Given the description of an element on the screen output the (x, y) to click on. 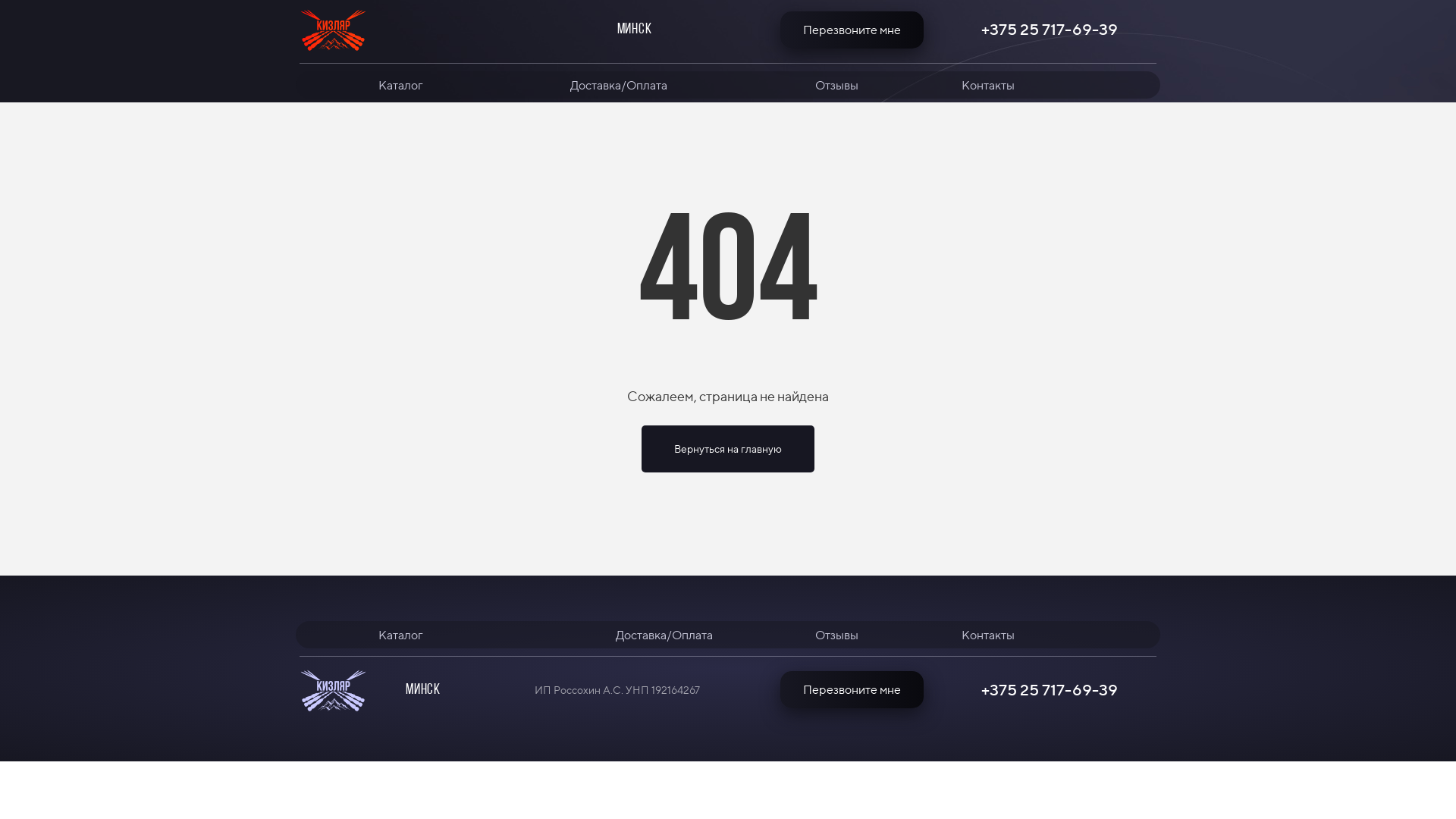
+375 25 717-69-39 Element type: text (1049, 689)
+375 25 717-69-39 Element type: text (1049, 29)
